Given the description of an element on the screen output the (x, y) to click on. 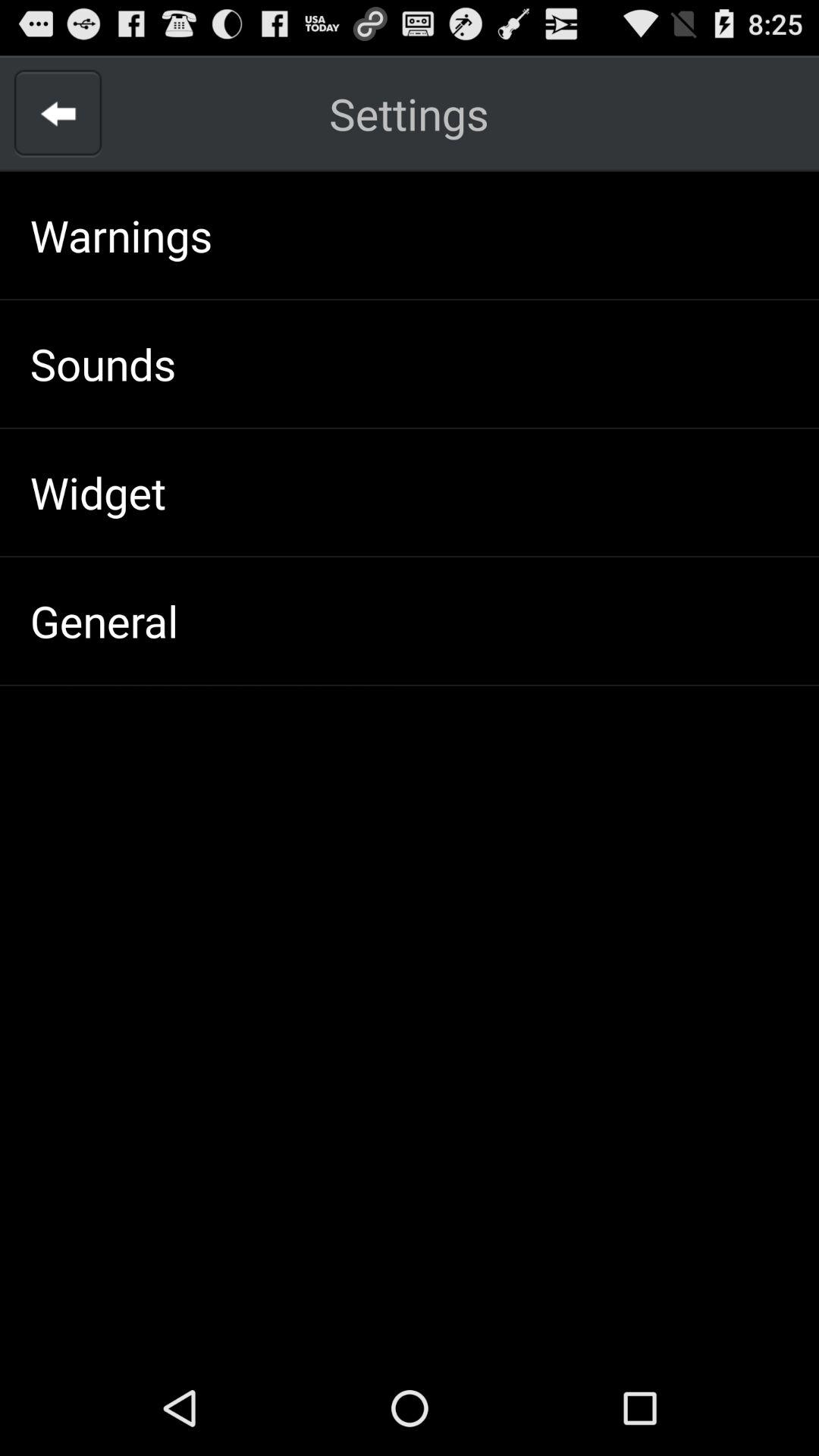
select the icon below sounds icon (98, 491)
